Given the description of an element on the screen output the (x, y) to click on. 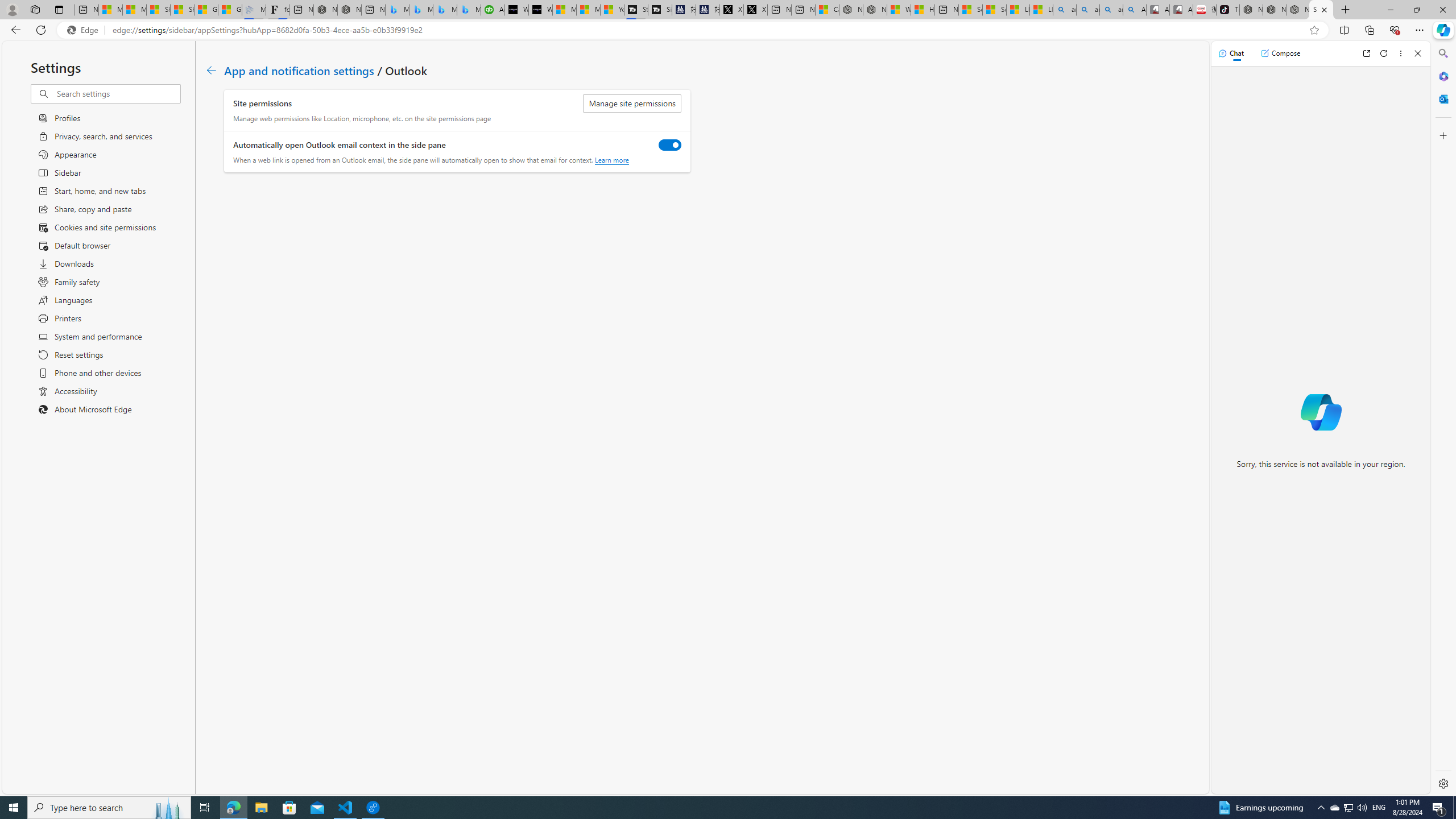
Search settings (117, 93)
Compose (1280, 52)
Microsoft Bing Travel - Shangri-La Hotel Bangkok (469, 9)
Manage site permissions (631, 103)
Accounting Software for Accountants, CPAs and Bookkeepers (492, 9)
Amazon Echo Robot - Search Images (1134, 9)
App and notification settings (299, 69)
